Given the description of an element on the screen output the (x, y) to click on. 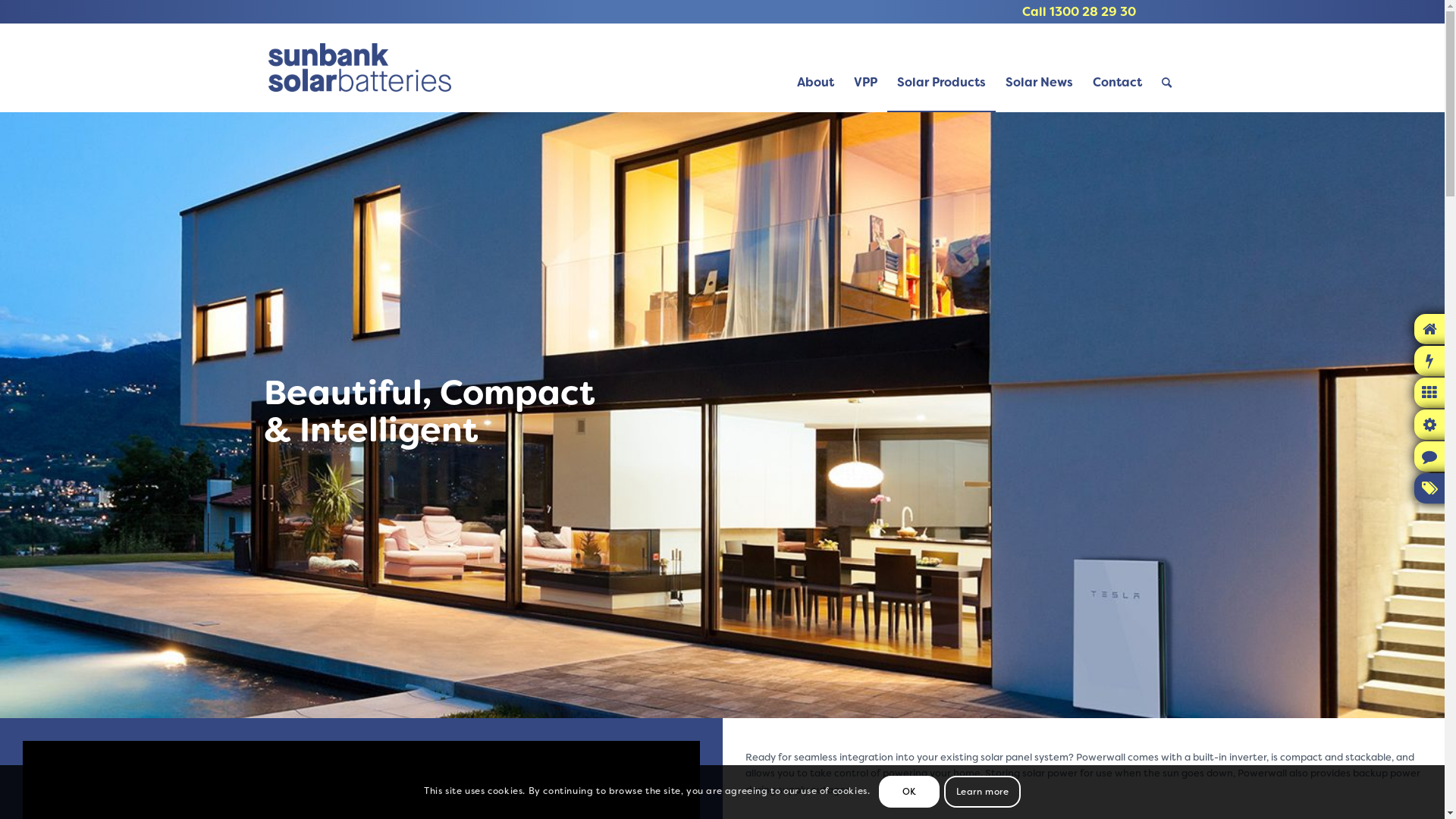
Learn more Element type: text (981, 791)
Tesla House Sunbank Solar Element type: hover (722, 414)
Solar News Element type: text (1038, 67)
About Element type: text (815, 67)
Call 1300 28 29 30 Element type: text (1078, 11)
OK Element type: text (908, 791)
Website-Logo-2020-SSB Element type: hover (359, 67)
Solar Products Element type: text (941, 67)
VPP Element type: text (864, 67)
Contact Element type: text (1116, 67)
